Given the description of an element on the screen output the (x, y) to click on. 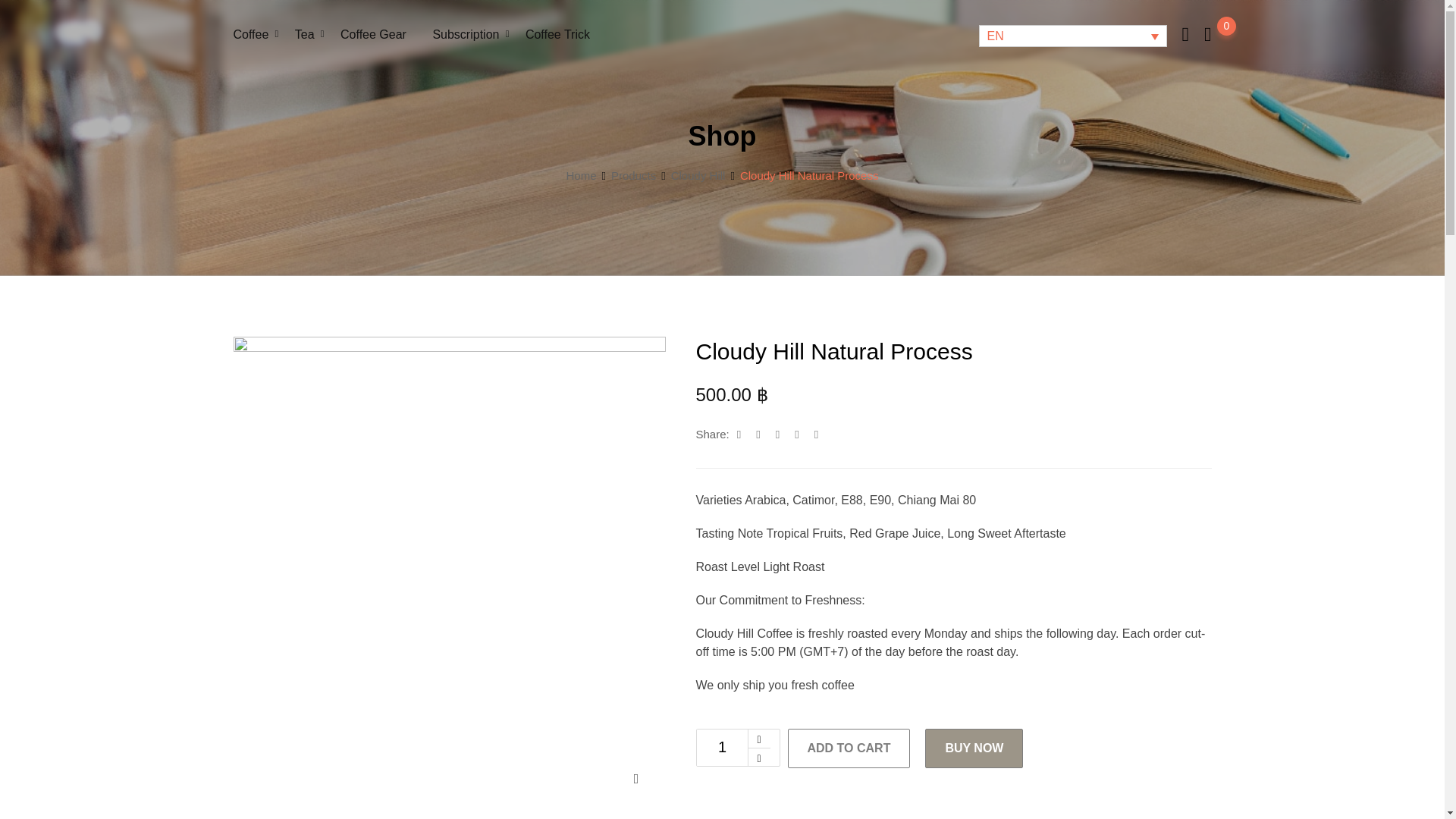
Coffee Gear (373, 34)
EN (1072, 35)
Subscription (465, 34)
1 (721, 747)
Coffee (250, 34)
0 (1207, 34)
Qty (721, 747)
Coffee Trick (557, 34)
CDH Pic to web-04 (448, 571)
Tea (304, 34)
